Given the description of an element on the screen output the (x, y) to click on. 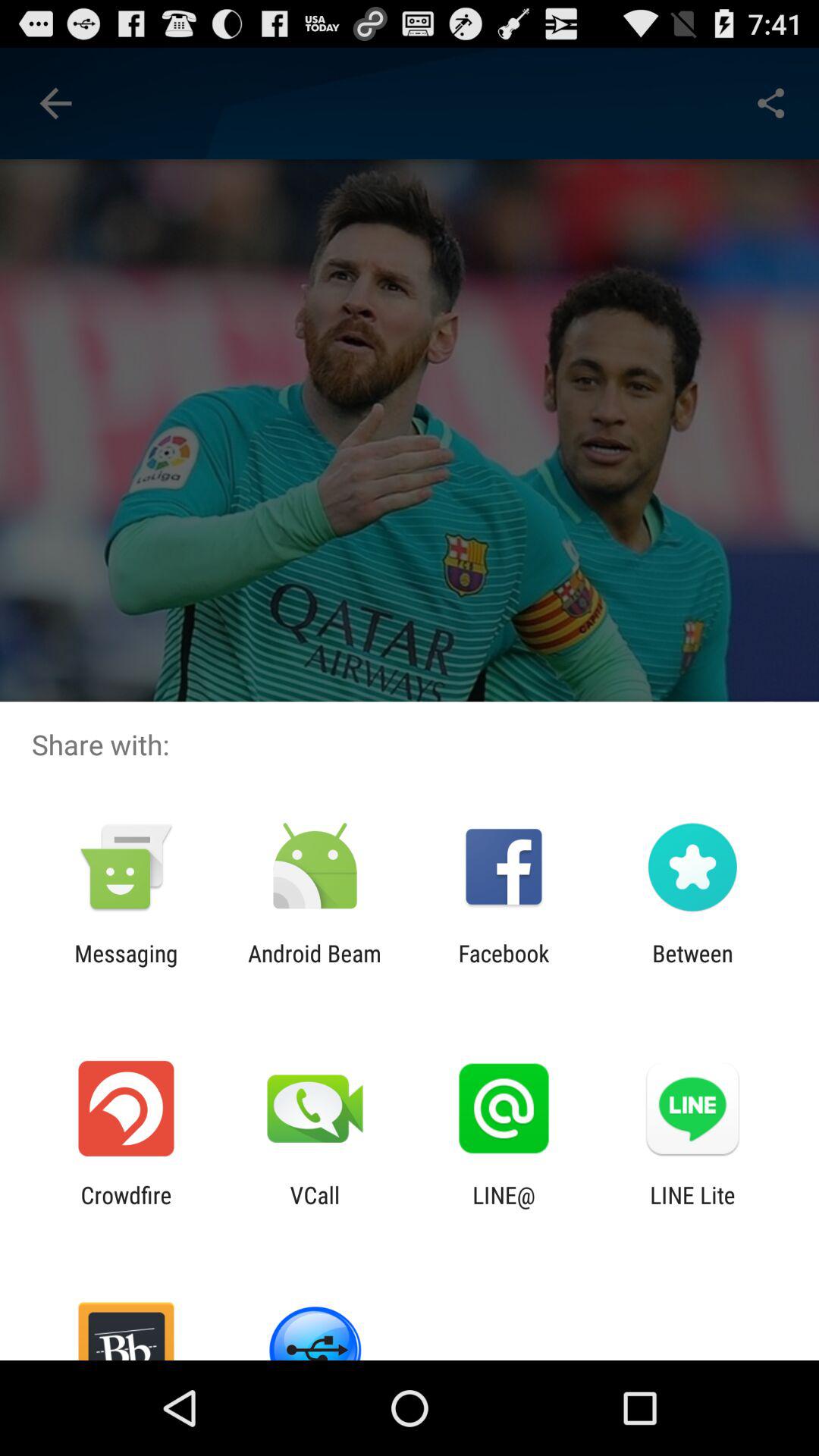
choose the item to the left of facebook item (314, 966)
